Given the description of an element on the screen output the (x, y) to click on. 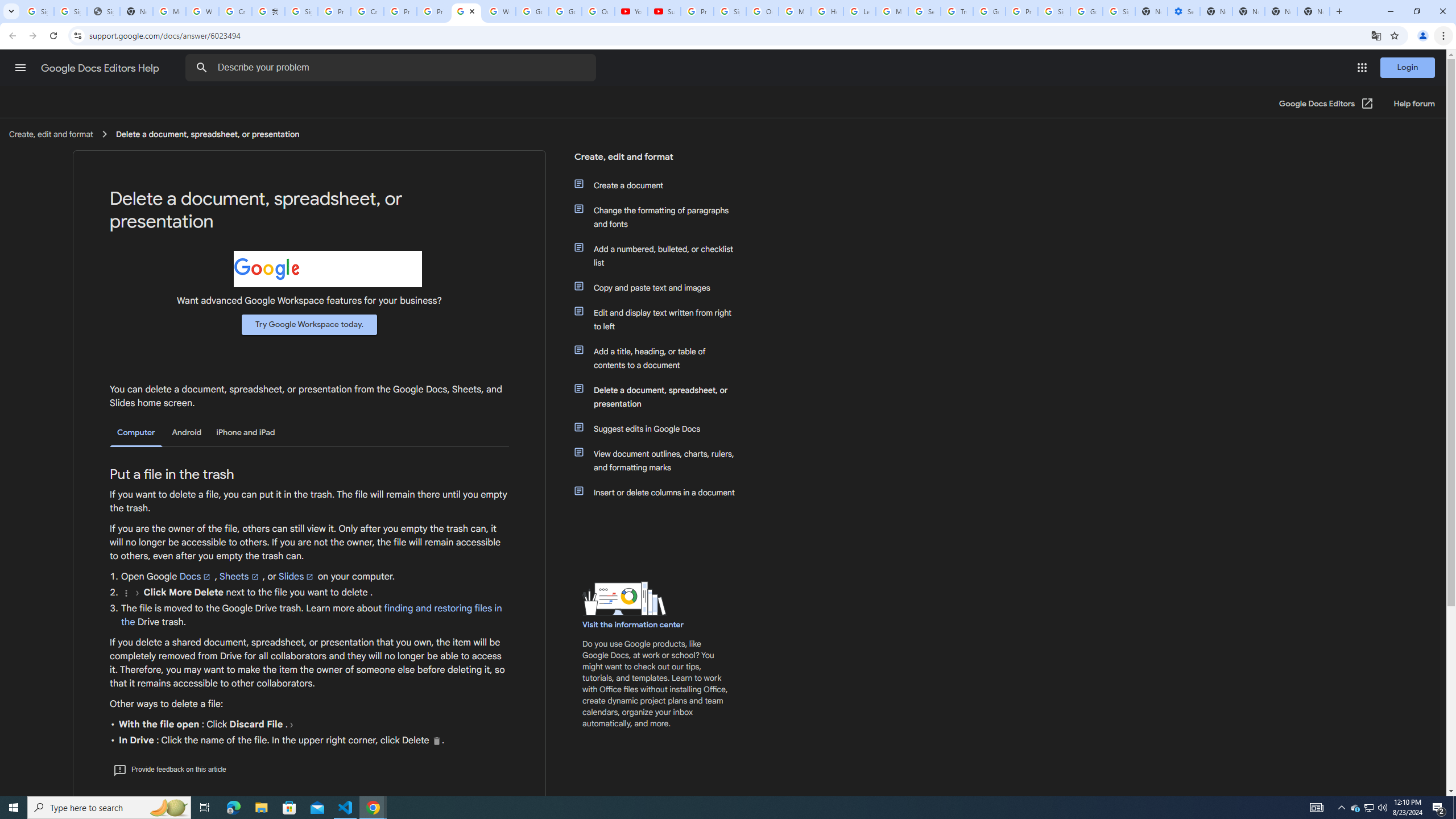
Settings - Performance (1183, 11)
Google Cybersecurity Innovations - Google Safety Center (1086, 11)
Copy and paste text and images (661, 287)
Sign in - Google Accounts (301, 11)
Sheets (239, 576)
New Tab (1313, 11)
Provide feedback on this article (169, 769)
Sign in - Google Accounts (1053, 11)
Google Docs Editors Help (100, 68)
Who is my administrator? - Google Account Help (202, 11)
Add a numbered, bulleted, or checklist list (661, 255)
